Given the description of an element on the screen output the (x, y) to click on. 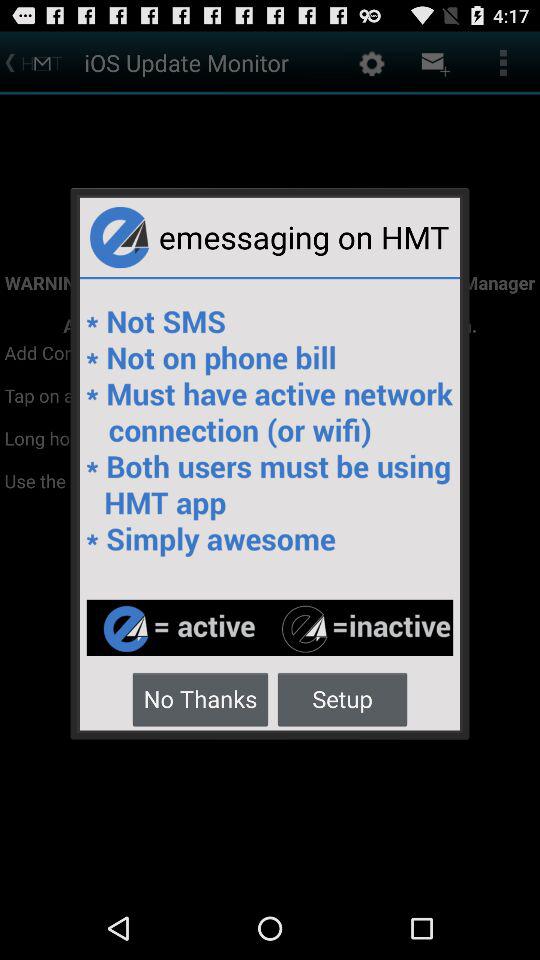
turn off item next to the setup button (200, 698)
